Given the description of an element on the screen output the (x, y) to click on. 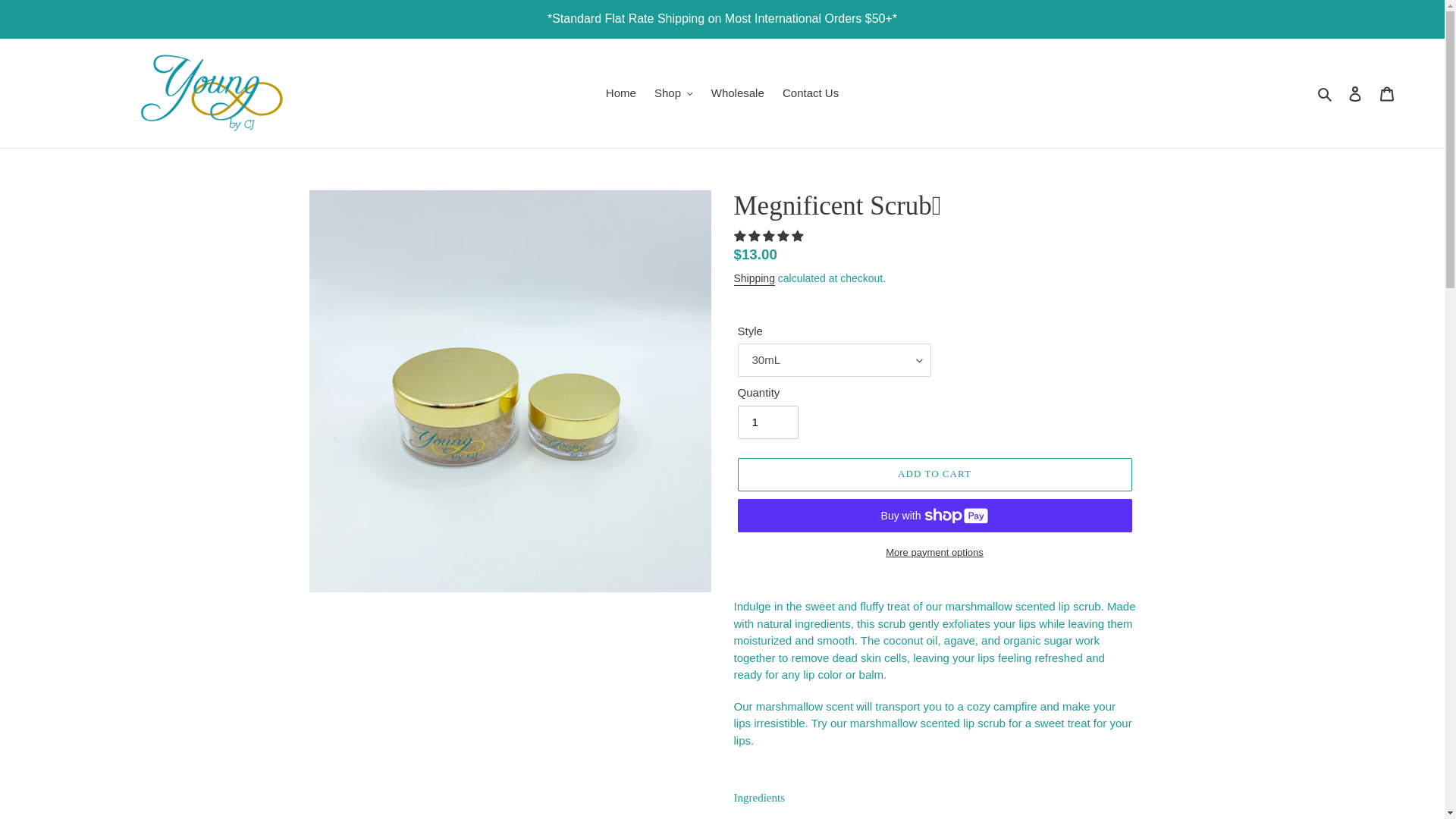
Shop (673, 93)
Wholesale (737, 93)
Cart (1387, 92)
Home (620, 93)
1 (766, 421)
Search (1326, 93)
Log in (1355, 92)
Contact Us (809, 93)
